Given the description of an element on the screen output the (x, y) to click on. 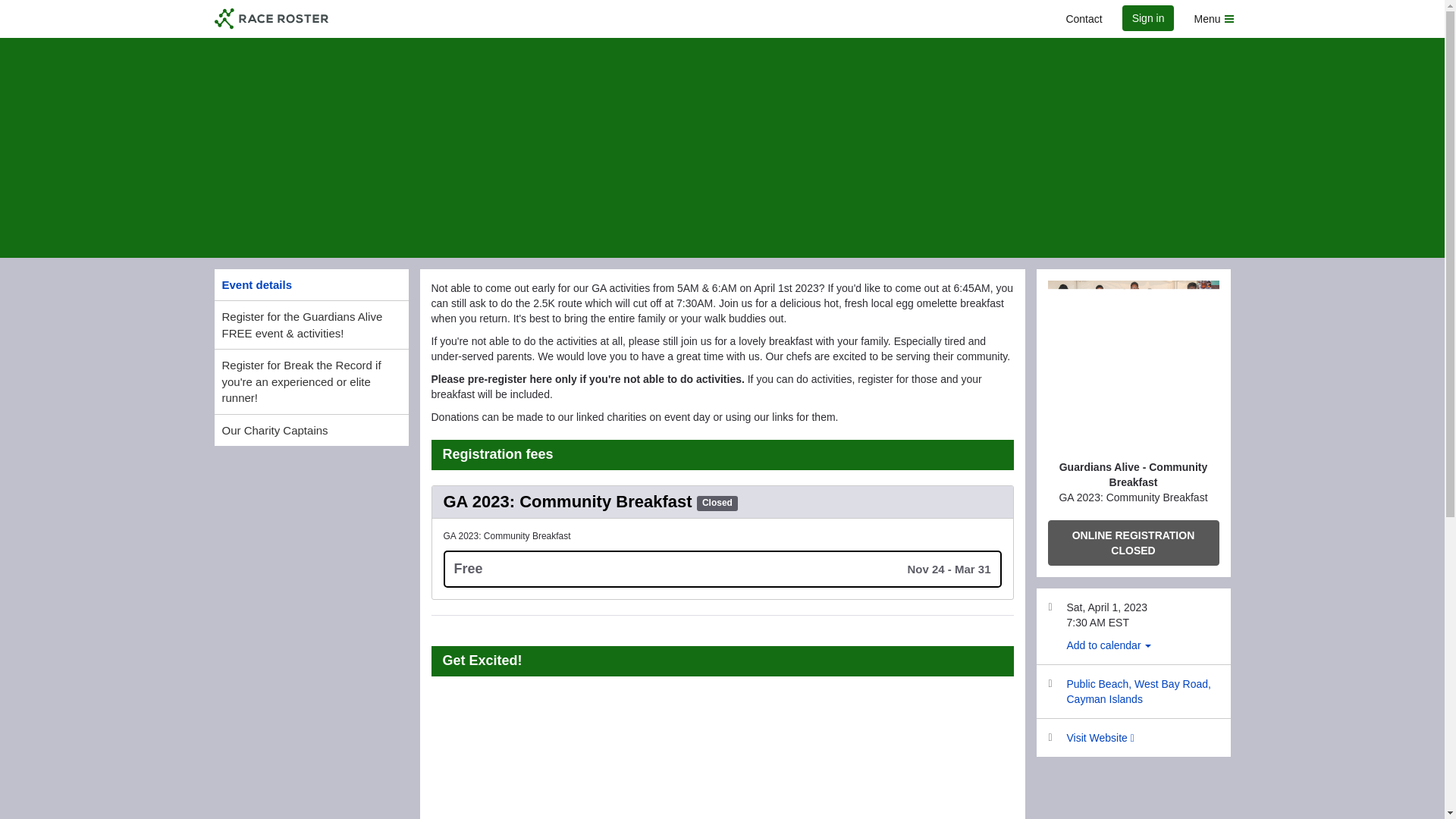
Contact (1083, 18)
Add to calendar (1108, 645)
Sign in (1148, 17)
Visit Website (1099, 737)
ONLINE REGISTRATION CLOSED (1134, 542)
Our Charity Captains (310, 429)
Public Beach, West Bay Road, Cayman Islands (1137, 691)
Event details (310, 284)
YouTube video player (721, 755)
